Given the description of an element on the screen output the (x, y) to click on. 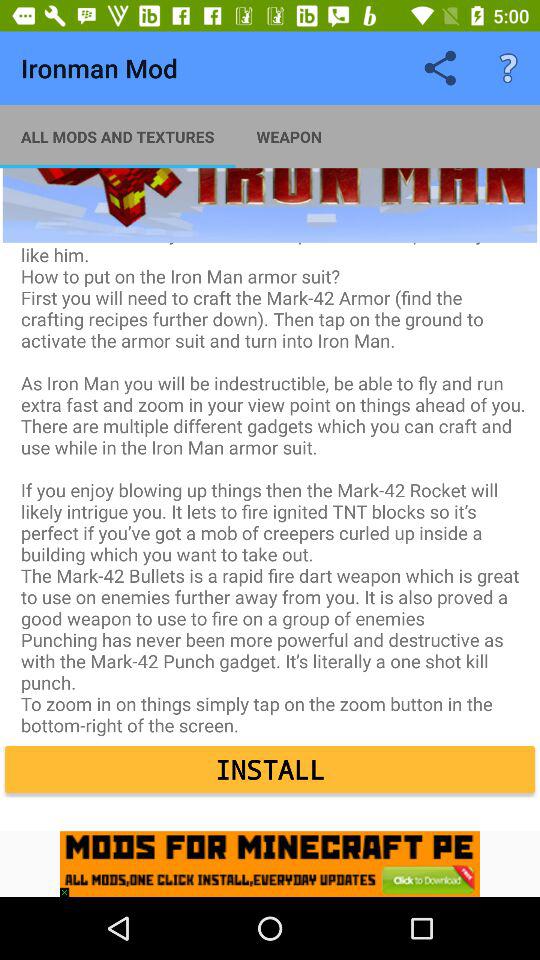
select install item (270, 769)
